Given the description of an element on the screen output the (x, y) to click on. 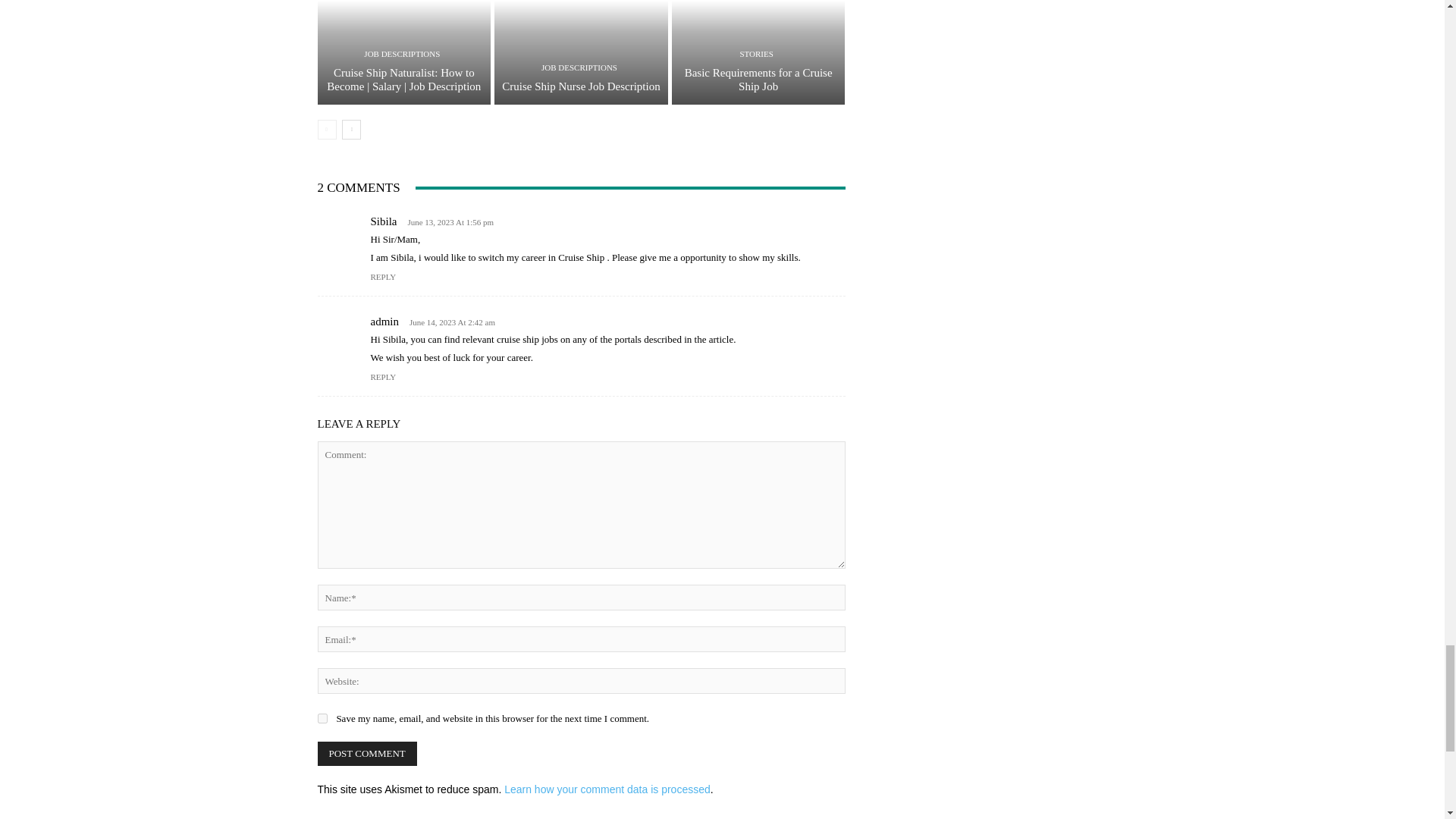
Post Comment (366, 753)
yes (321, 718)
